Given the description of an element on the screen output the (x, y) to click on. 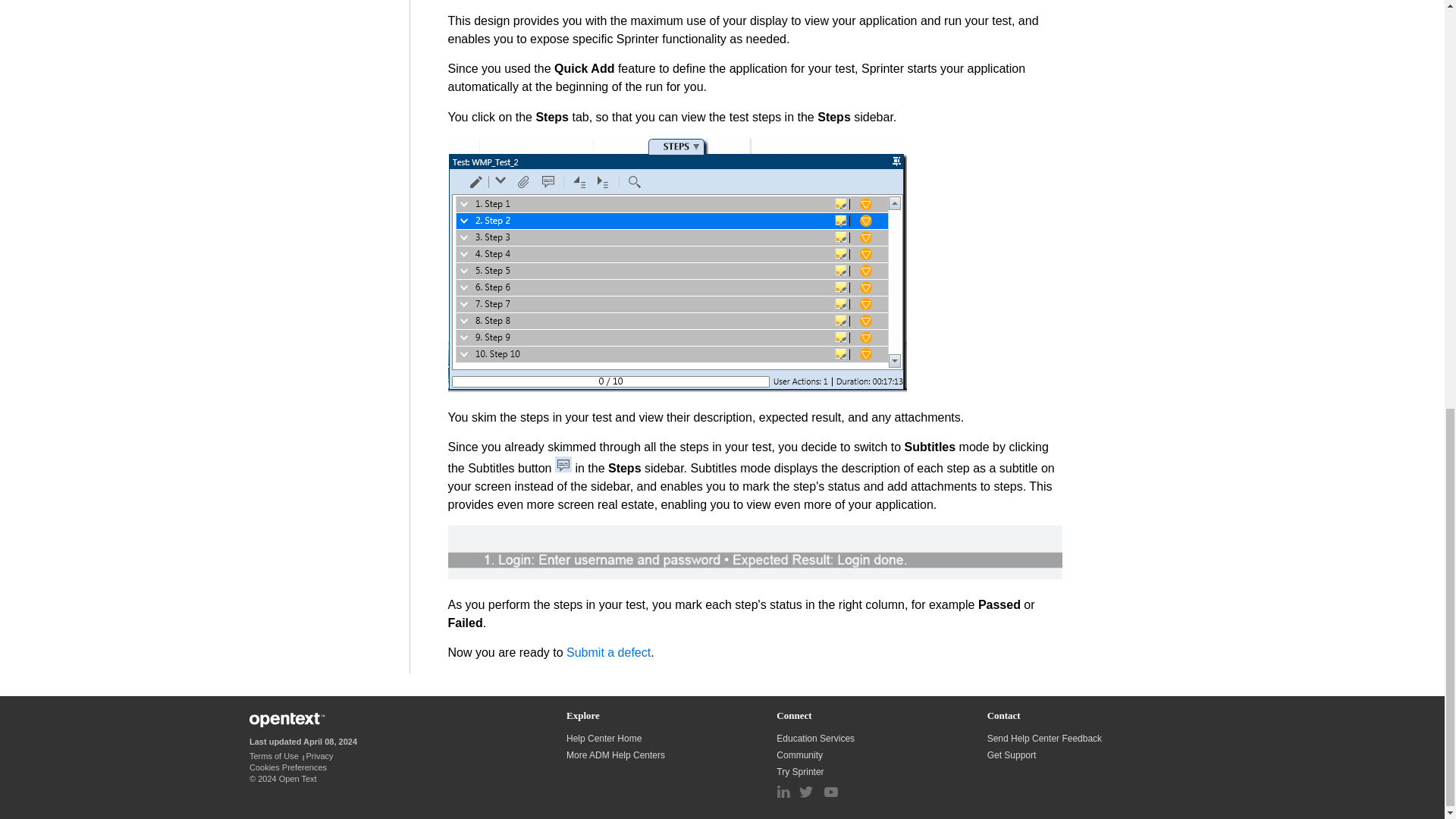
Help Center Home (604, 738)
Try Sprinter (800, 771)
Education Services (816, 738)
More ADM Help Centers (616, 755)
Community (800, 755)
Submit a defect (608, 652)
